Given the description of an element on the screen output the (x, y) to click on. 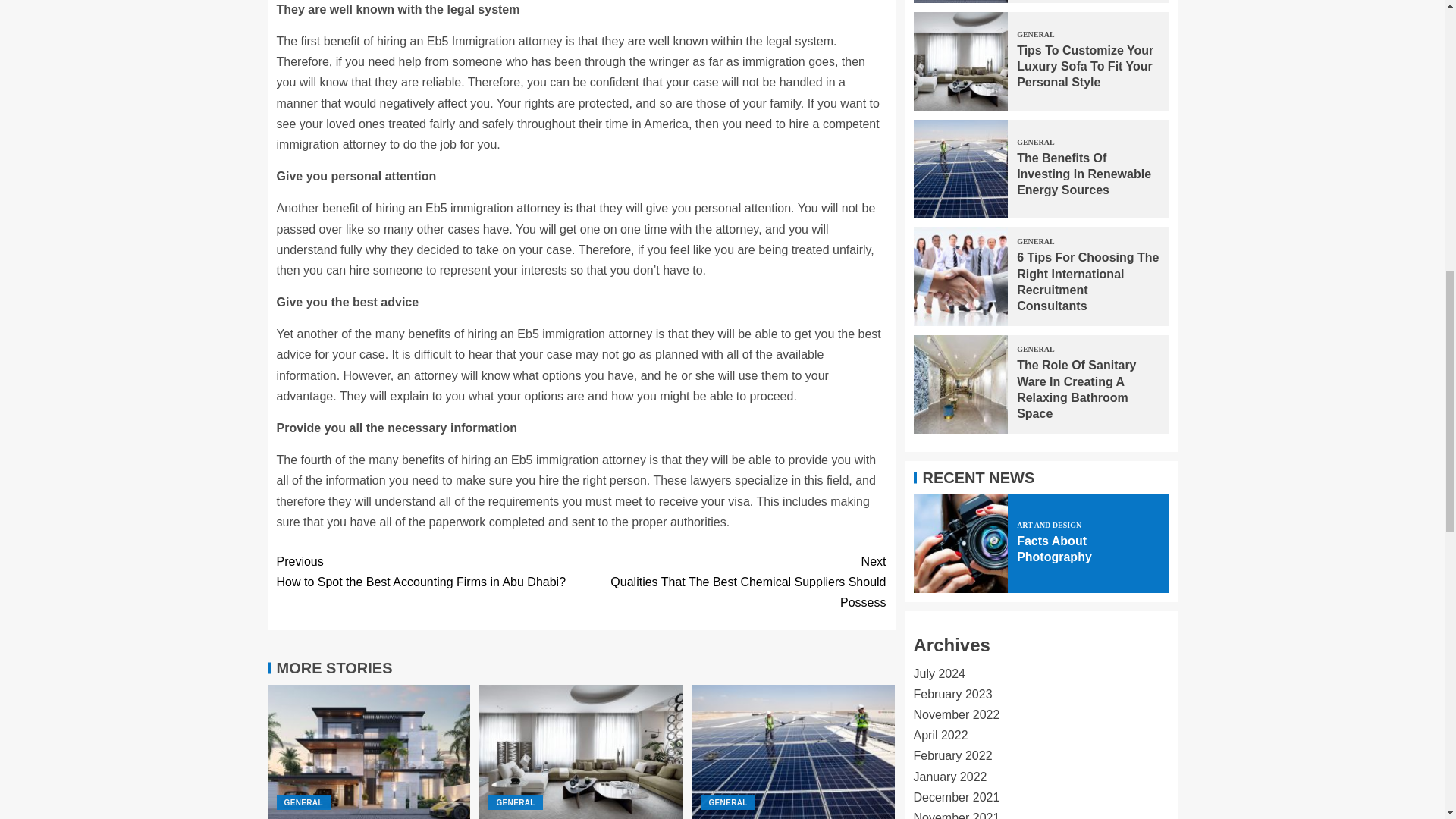
GENERAL (514, 802)
GENERAL (727, 802)
GENERAL (303, 802)
